Given the description of an element on the screen output the (x, y) to click on. 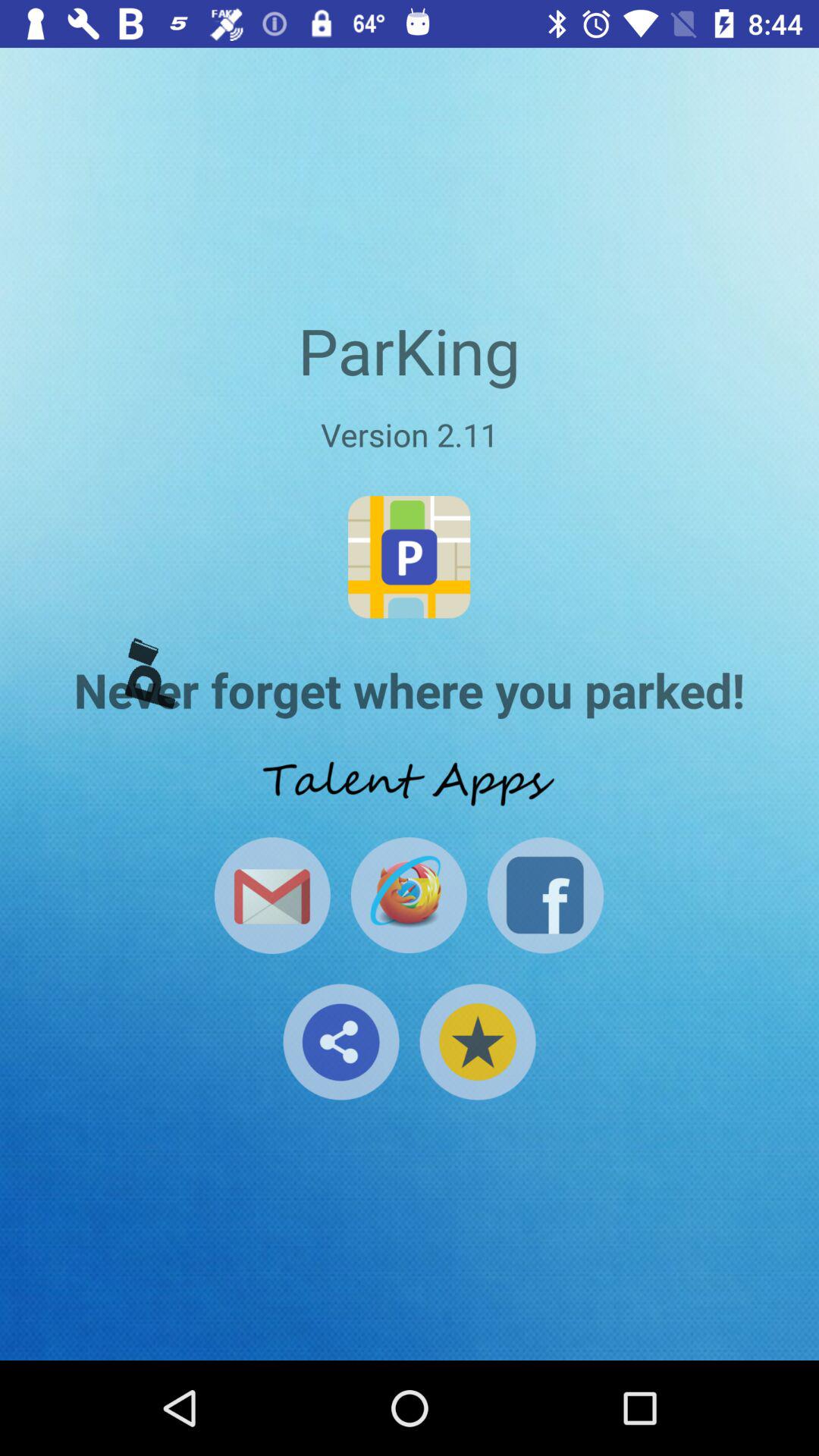
open email (272, 895)
